Given the description of an element on the screen output the (x, y) to click on. 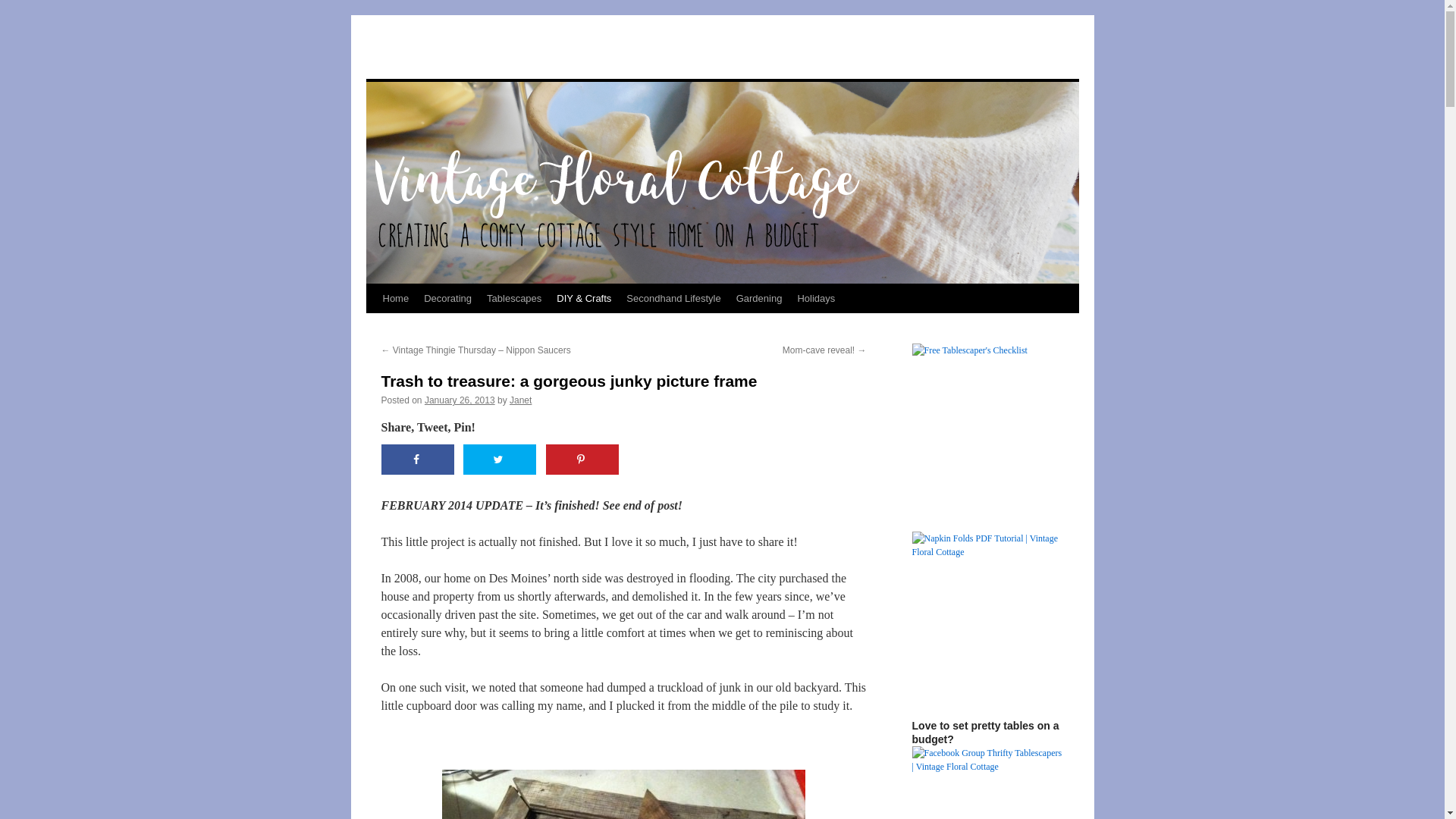
Holidays (816, 298)
VFCstyle.com (440, 50)
Janet (520, 399)
Secondhand Lifestyle (673, 298)
Share on Twitter (499, 459)
View all posts by Janet (520, 399)
Home (395, 298)
Save to Pinterest (582, 459)
Gardening (759, 298)
5:43 am (460, 399)
